Given the description of an element on the screen output the (x, y) to click on. 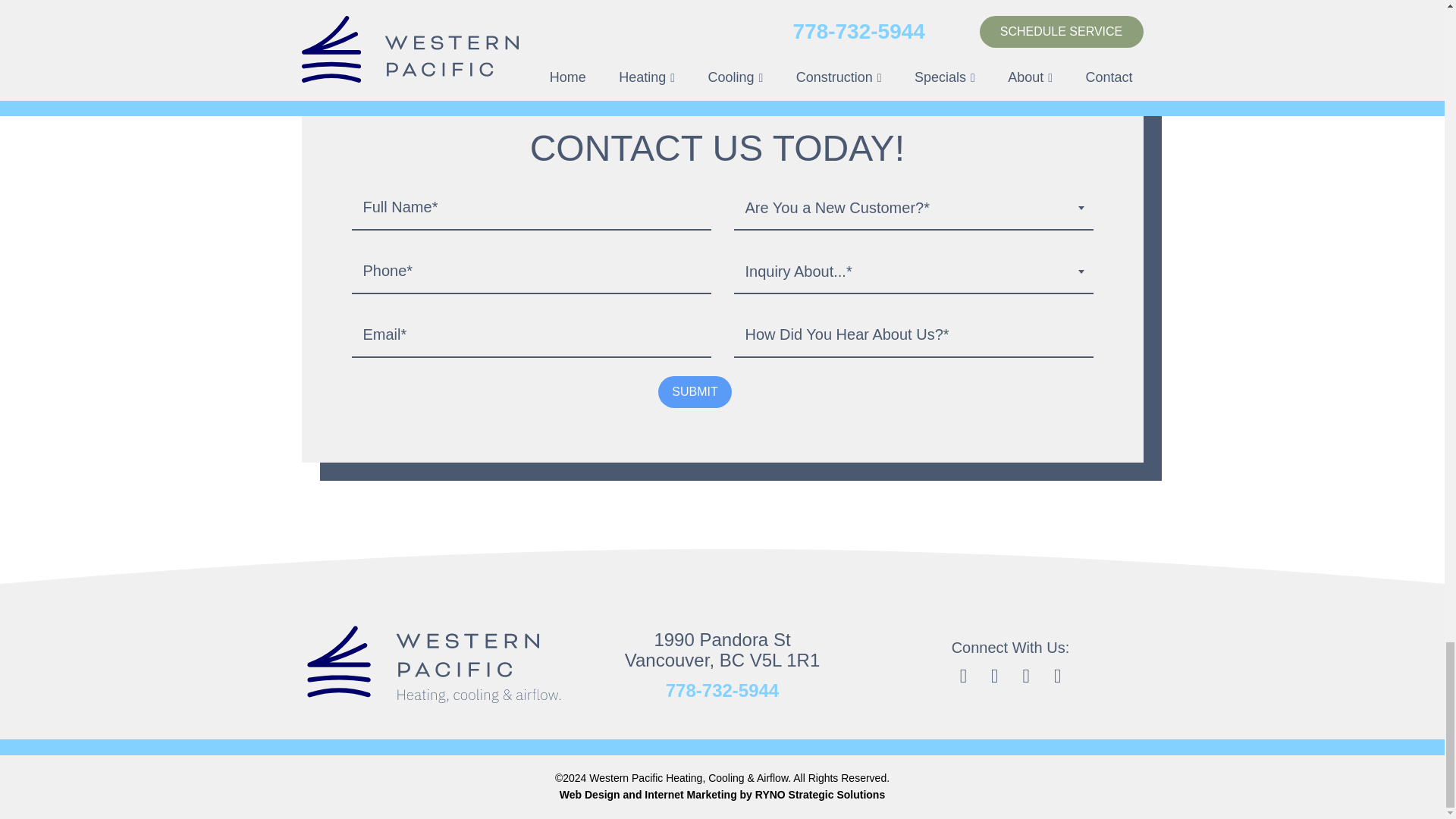
Submit (694, 391)
